Given the description of an element on the screen output the (x, y) to click on. 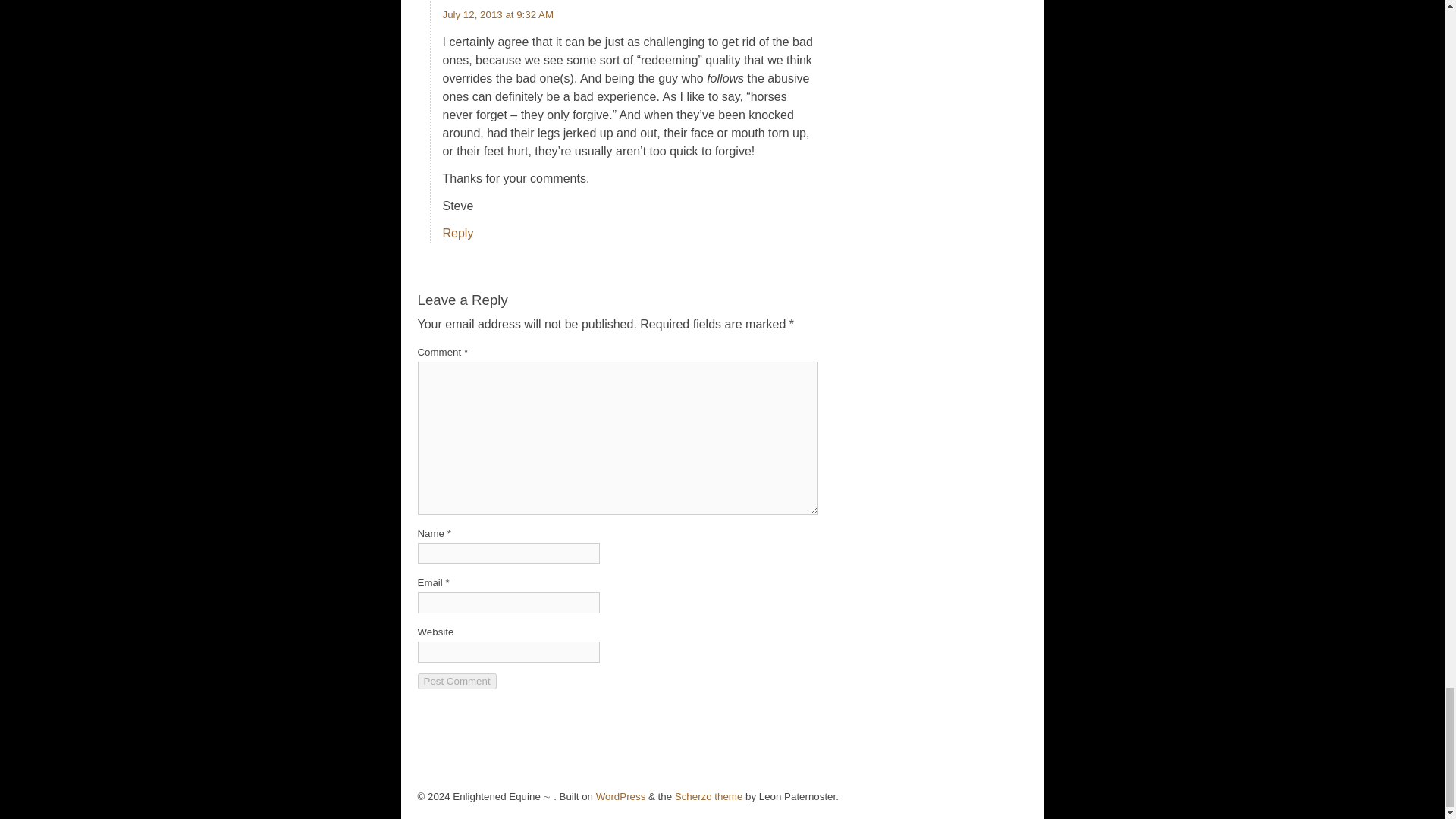
Post Comment (456, 681)
Reply (458, 232)
July 12, 2013 at 9:32 AM (498, 14)
